Given the description of an element on the screen output the (x, y) to click on. 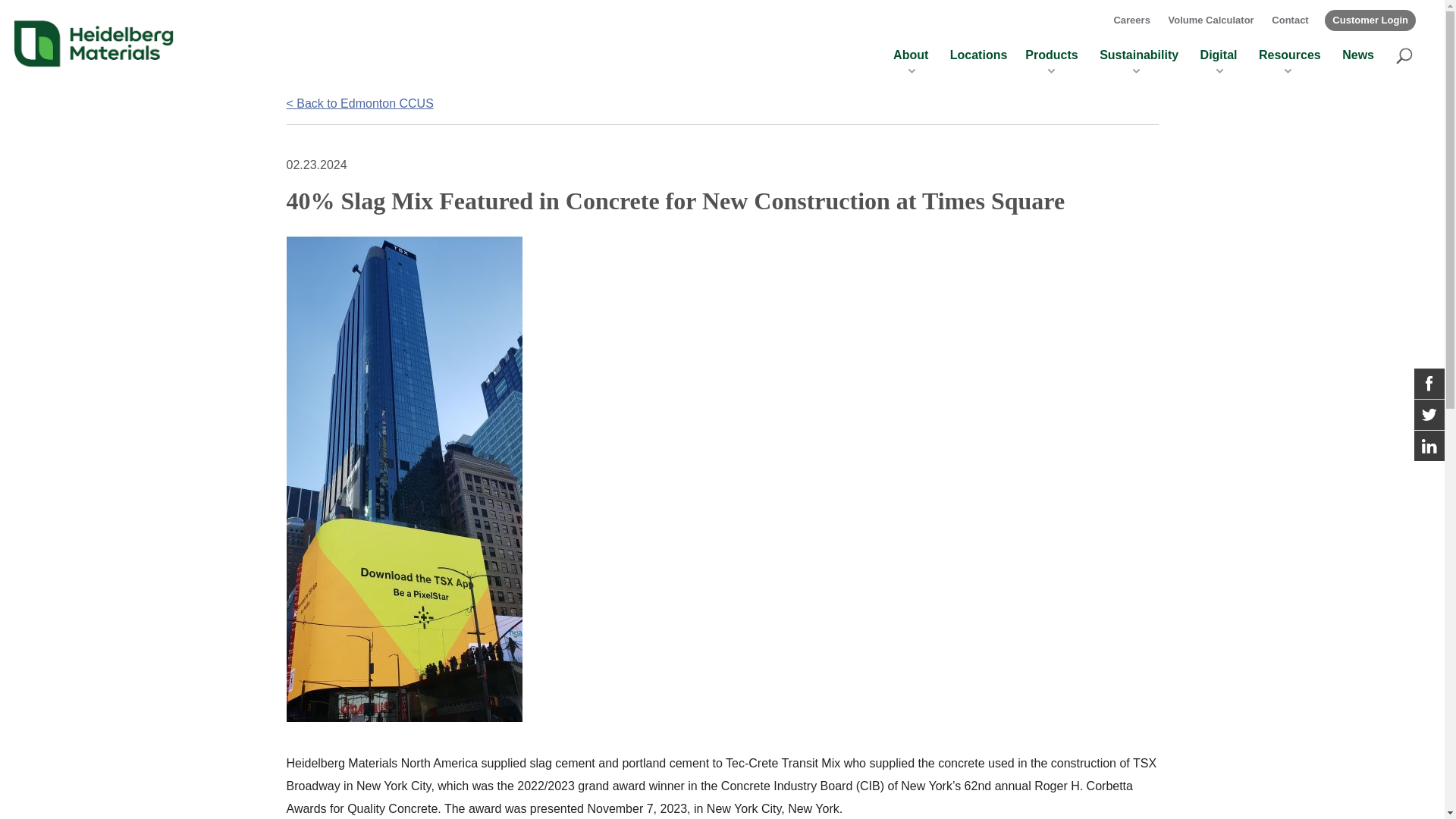
Customer Login (1369, 20)
Heidelberg Materials (93, 42)
Careers (1131, 19)
Locations (978, 54)
About (910, 63)
Resources (1289, 63)
Digital (1218, 63)
Sustainability (1138, 63)
Products (1051, 63)
Volume Calculator (1210, 19)
